Given the description of an element on the screen output the (x, y) to click on. 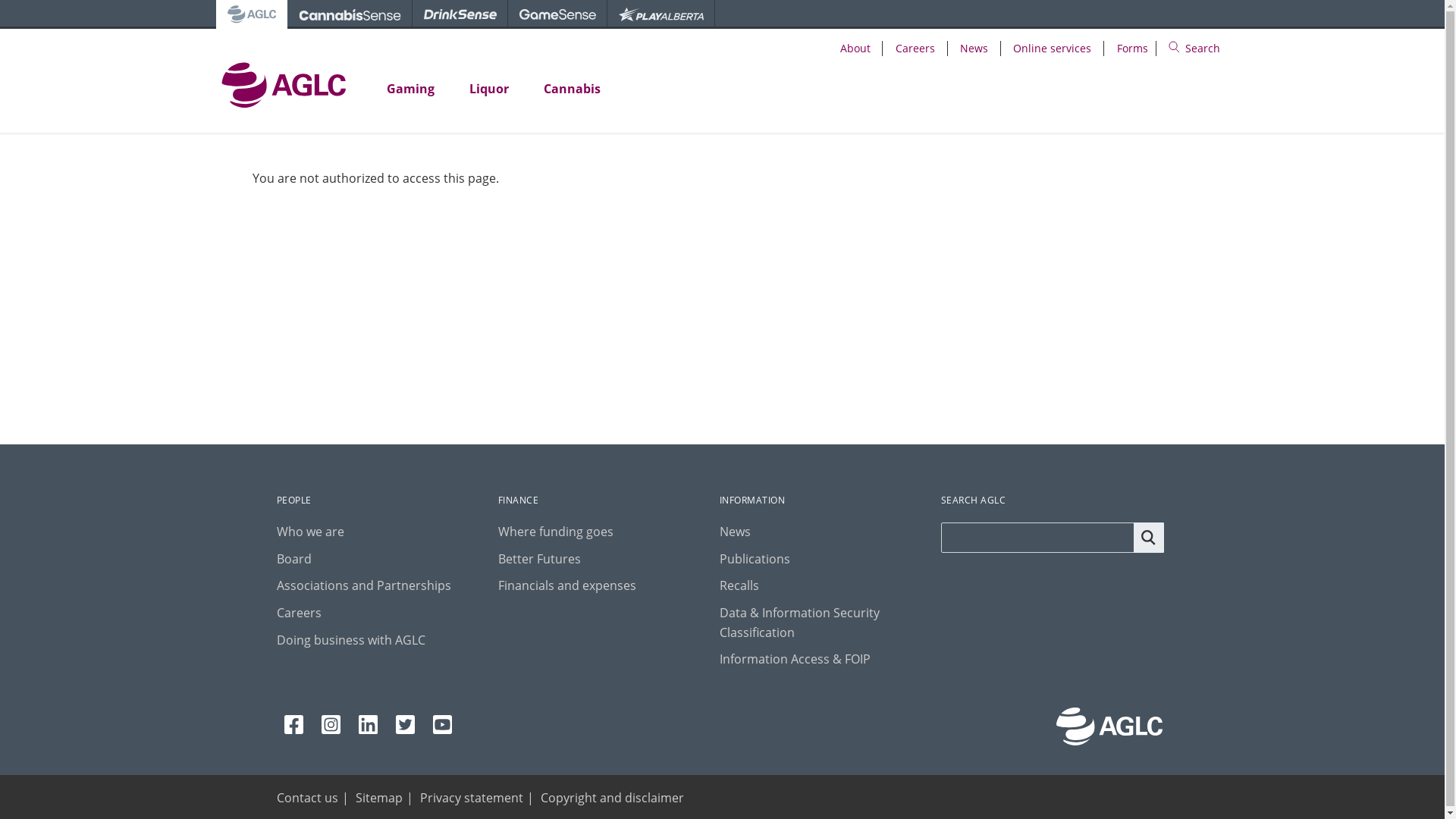
Where funding goes Element type: text (555, 531)
Better Futures Element type: text (539, 558)
Gaming Element type: text (409, 89)
Careers Element type: text (915, 48)
Associations and Partnerships Element type: text (363, 585)
Instagram Element type: text (330, 724)
Game Sense
GameSense logo Element type: text (557, 14)
News Element type: text (973, 48)
AGLC
AGLC logo Element type: text (250, 14)
Privacy statement Element type: text (471, 797)
Facebook Element type: text (293, 724)
Doing business with AGLC Element type: text (350, 639)
Who we are Element type: text (309, 531)
Copyright and disclaimer Element type: text (611, 797)
Twitter Element type: text (405, 724)
Board Element type: text (293, 558)
Youtube Element type: text (441, 724)
Careers Element type: text (298, 612)
Cannabis Element type: text (571, 89)
Online services Element type: text (1051, 48)
About Element type: text (854, 48)
Recalls Element type: text (739, 585)
Forms Element type: text (1132, 48)
Financials and expenses Element type: text (567, 585)
Liquor Element type: text (488, 89)
Publications Element type: text (754, 558)
News Element type: text (734, 531)
Contact us Element type: text (306, 797)
Linkedin Element type: text (367, 724)
Information Access & FOIP Element type: text (794, 658)
Sitemap Element type: text (377, 797)
Play Alberta
PlayAlberta logo Element type: text (660, 14)
Cannabis Sense Element type: text (348, 14)
Drink Sense
DrinkSense logo Element type: text (460, 14)
Data & Information Security Classification Element type: text (799, 622)
